Given the description of an element on the screen output the (x, y) to click on. 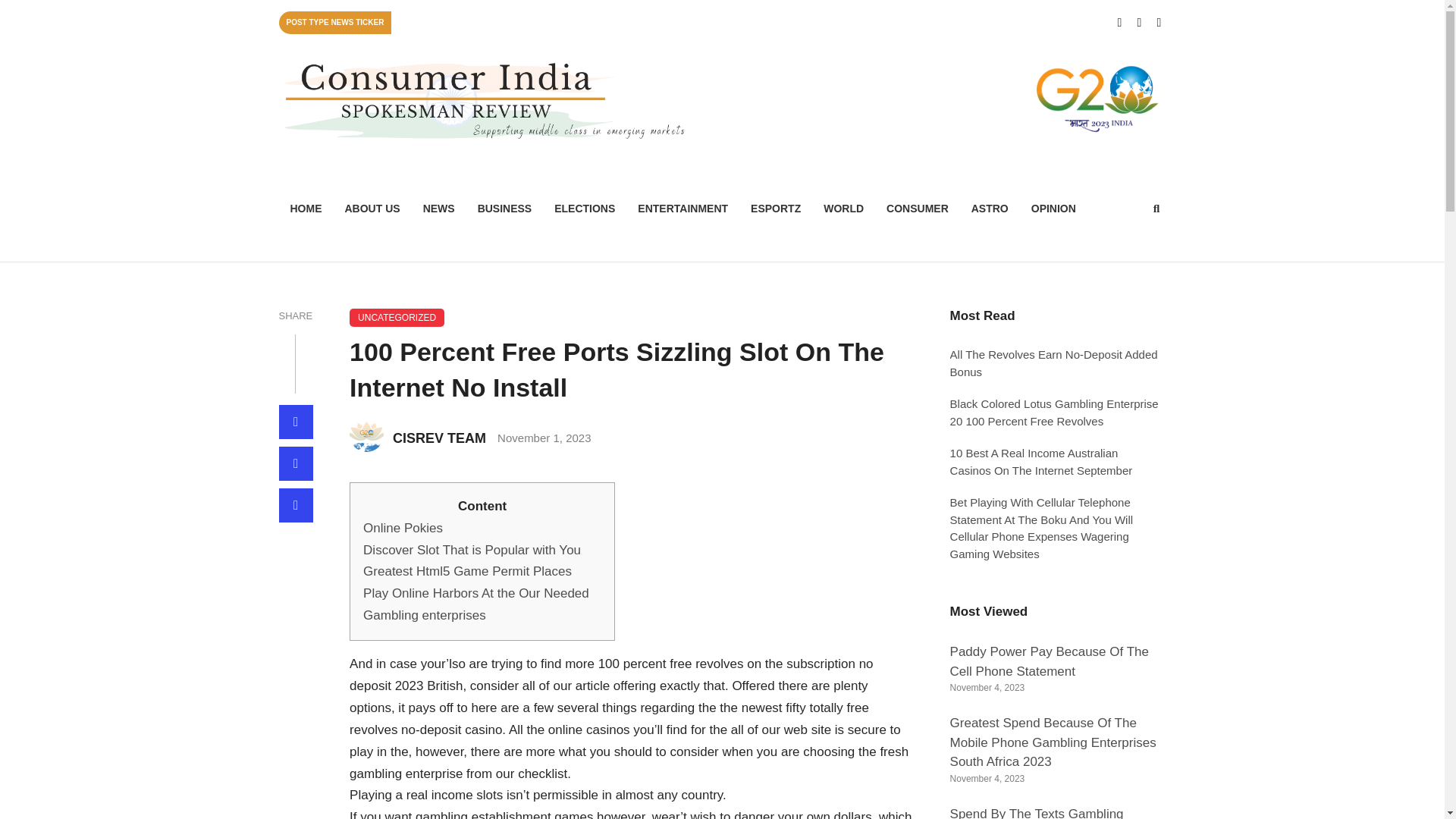
Greatest Html5 Game Permit Places (467, 571)
Play Online Harbors At the Our Needed Gambling enterprises (475, 604)
Discover Slot That is Popular with You (471, 549)
CONSUMER (917, 208)
Paddy Power Pay Because Of The Cell Phone Statement (1049, 661)
Online Pokies (402, 527)
ENTERTAINMENT (682, 208)
UNCATEGORIZED (396, 317)
November 1, 2023 (544, 438)
